Given the description of an element on the screen output the (x, y) to click on. 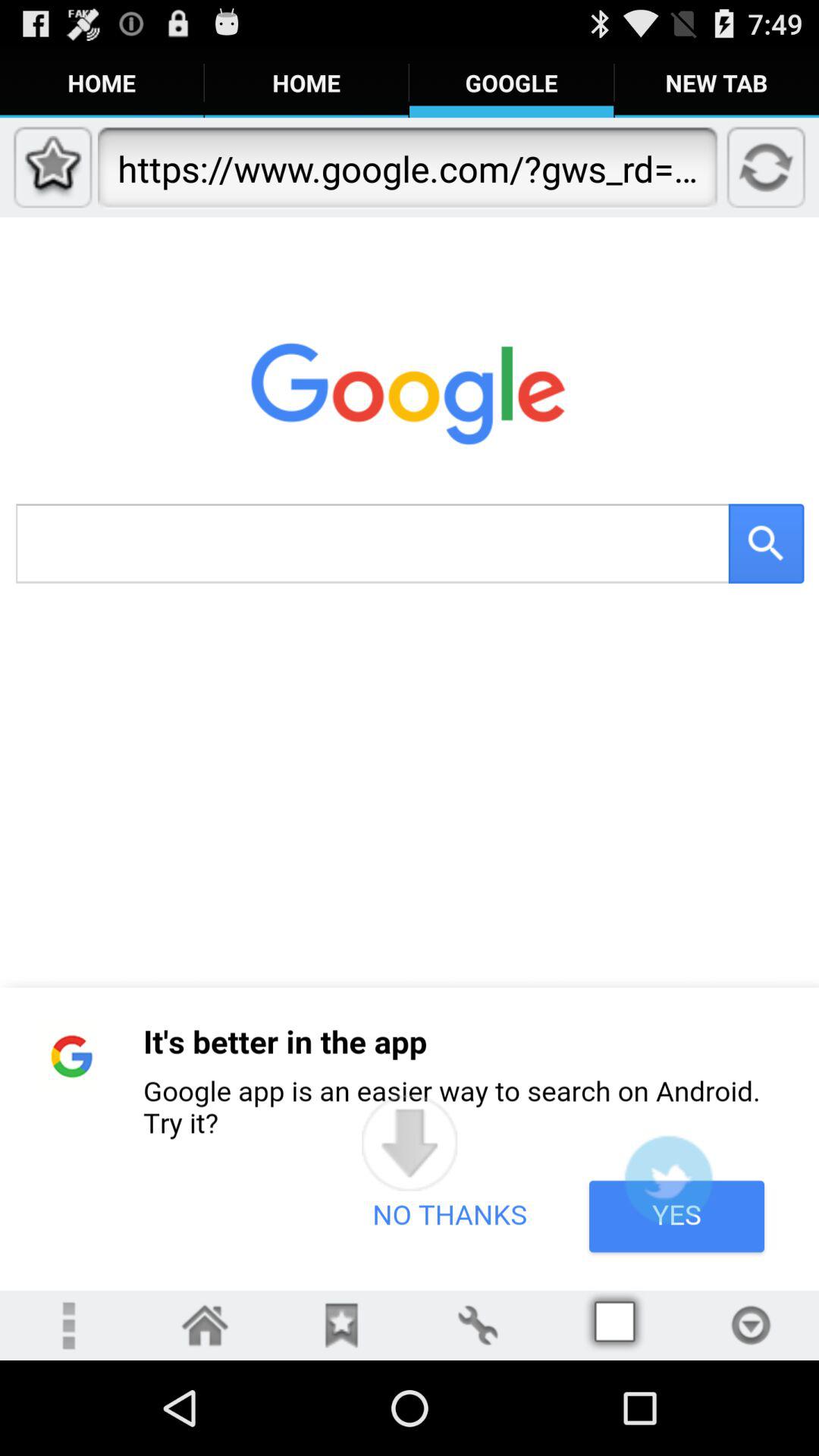
overflow menu (68, 1325)
